Given the description of an element on the screen output the (x, y) to click on. 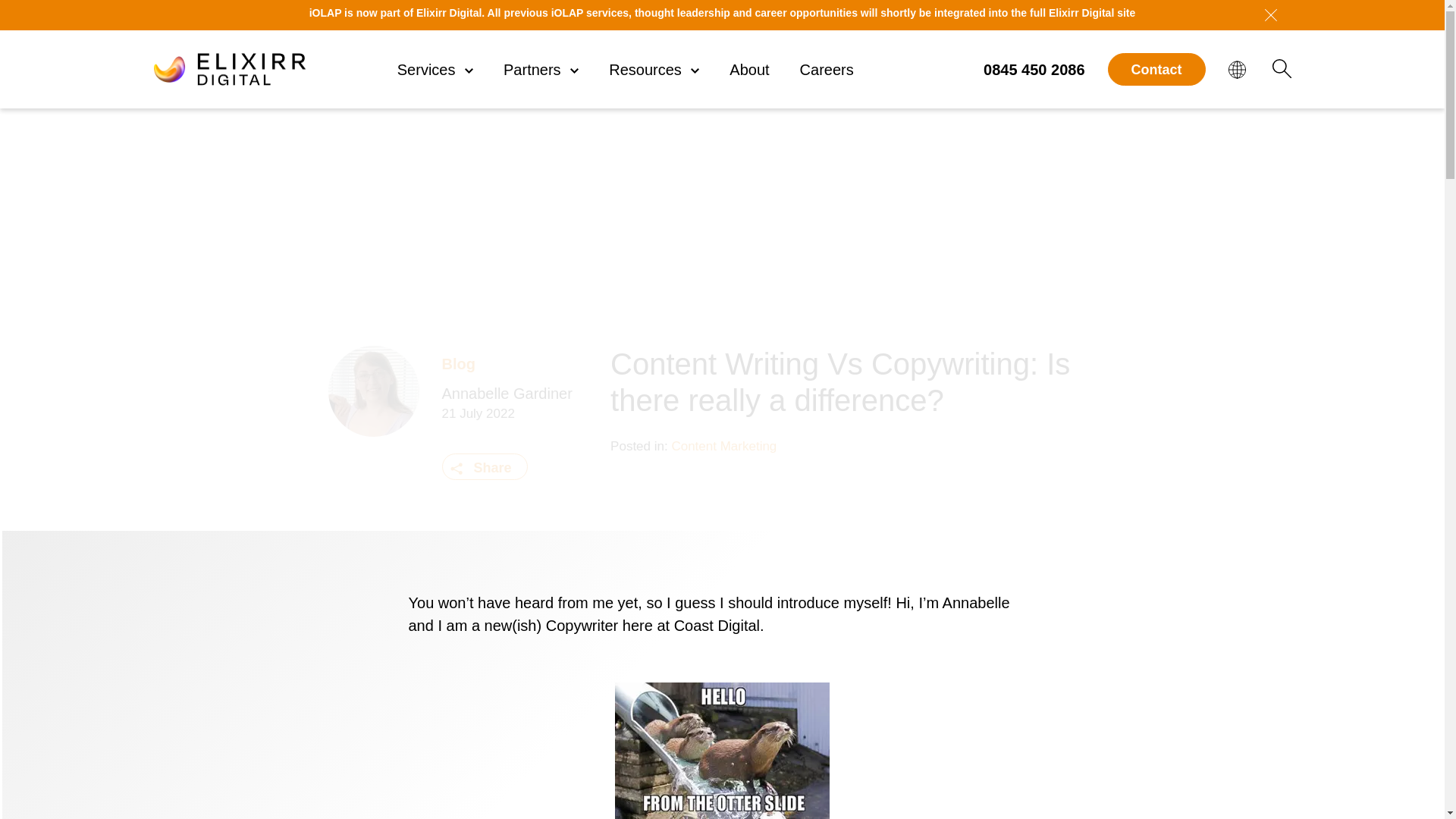
Contact (1155, 69)
Services (435, 69)
Careers (826, 69)
About (748, 69)
Resources (653, 69)
0845 450 2086 (1034, 69)
Partners (540, 69)
